Given the description of an element on the screen output the (x, y) to click on. 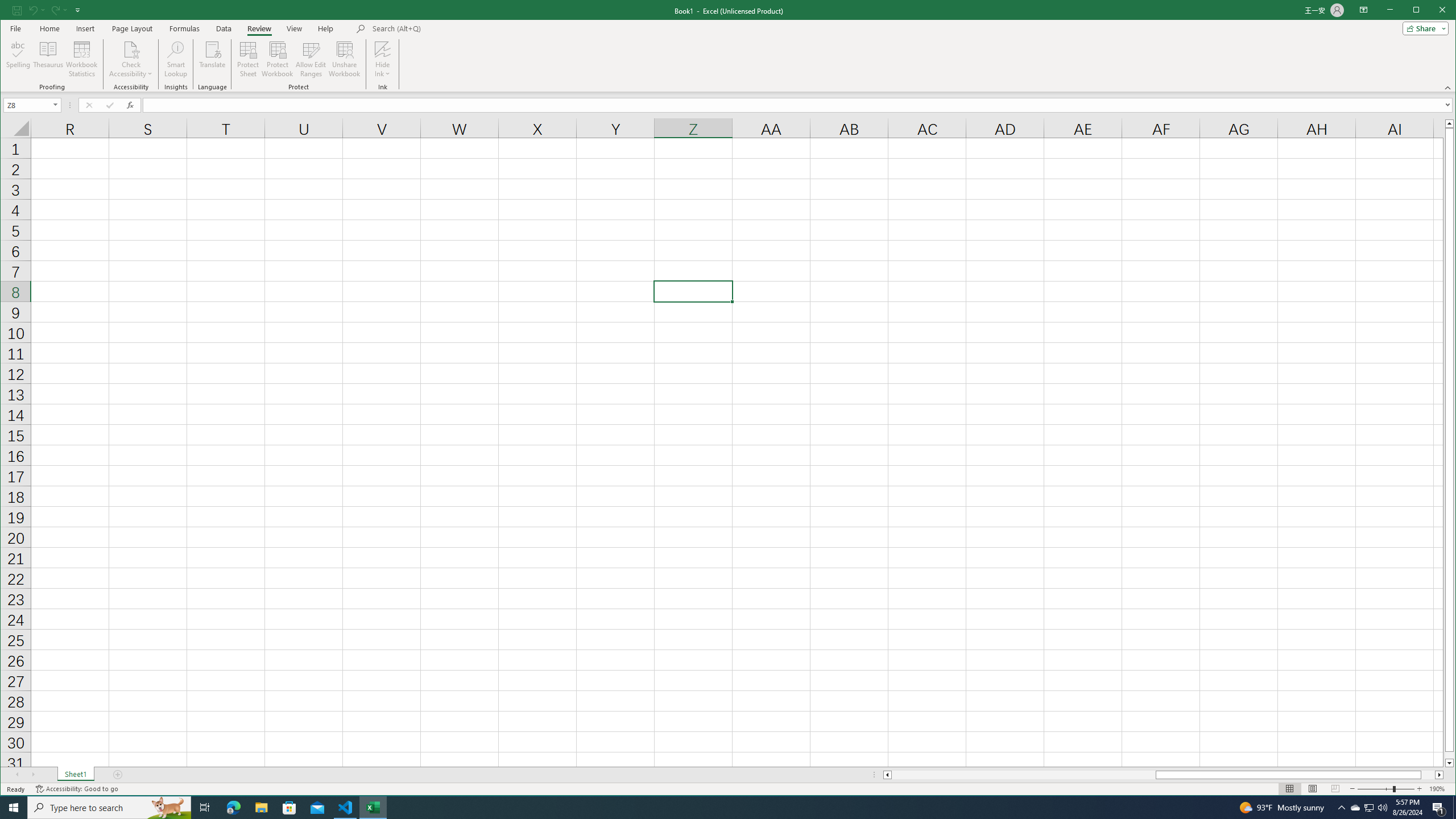
Microsoft Store (289, 807)
Microsoft Edge (233, 807)
File Explorer (261, 807)
Show desktop (1454, 807)
Running applications (717, 807)
Q2790: 100% (1382, 807)
